Given the description of an element on the screen output the (x, y) to click on. 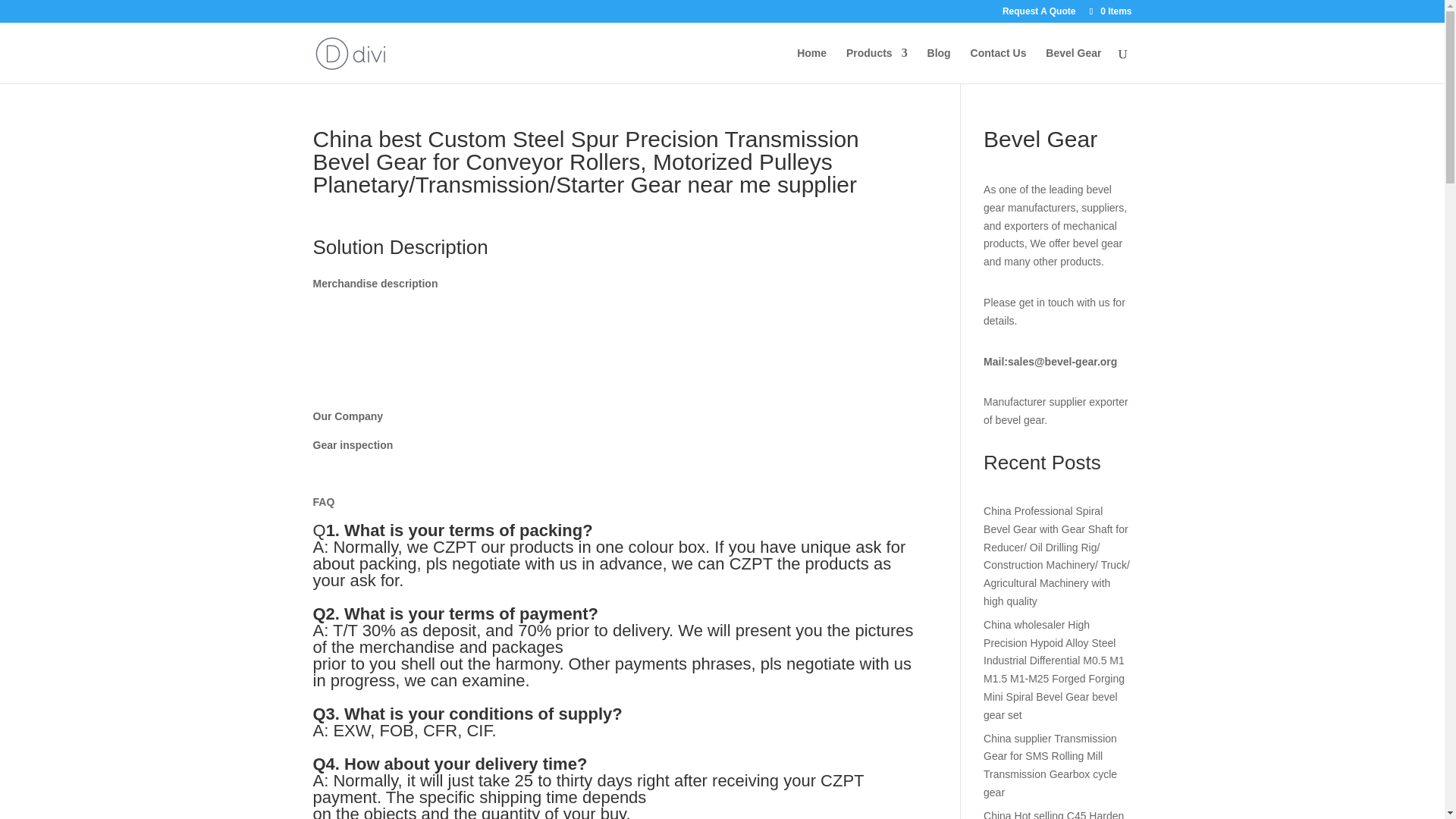
Request A Quote (1039, 14)
Products (876, 65)
Contact Us (998, 65)
Bevel Gear (1072, 65)
0 Items (1108, 10)
